Given the description of an element on the screen output the (x, y) to click on. 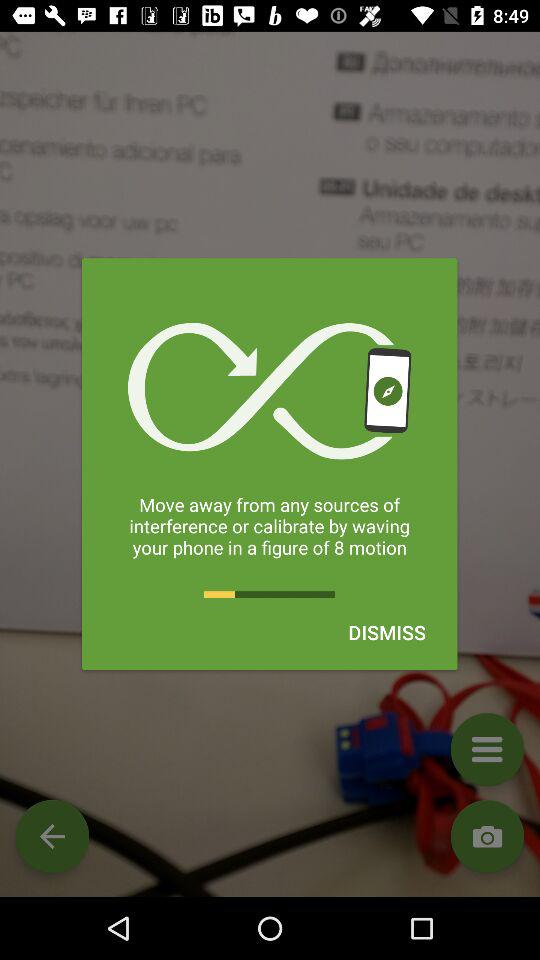
press the dismiss (386, 632)
